Given the description of an element on the screen output the (x, y) to click on. 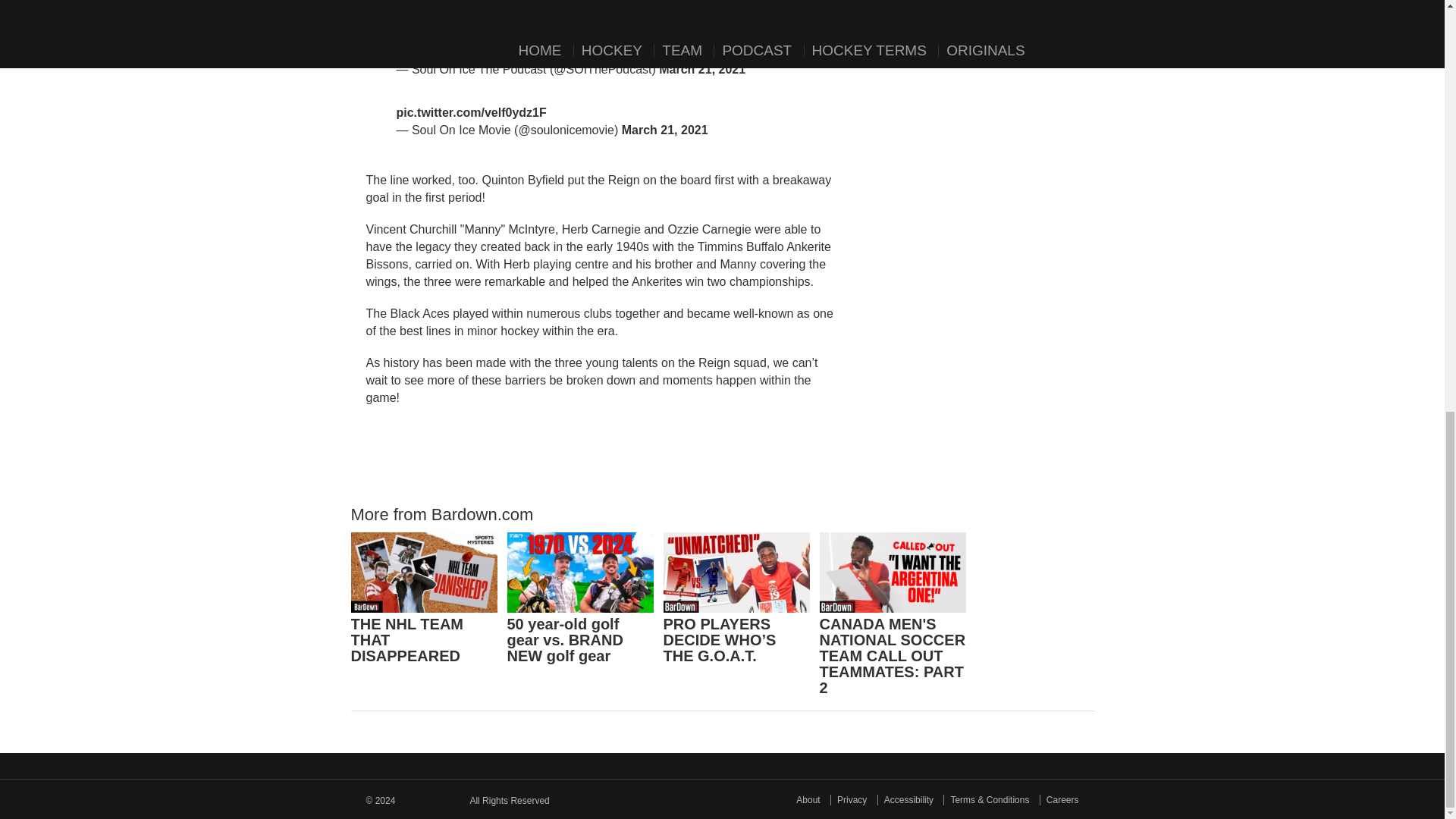
Bell Media (431, 796)
